Given the description of an element on the screen output the (x, y) to click on. 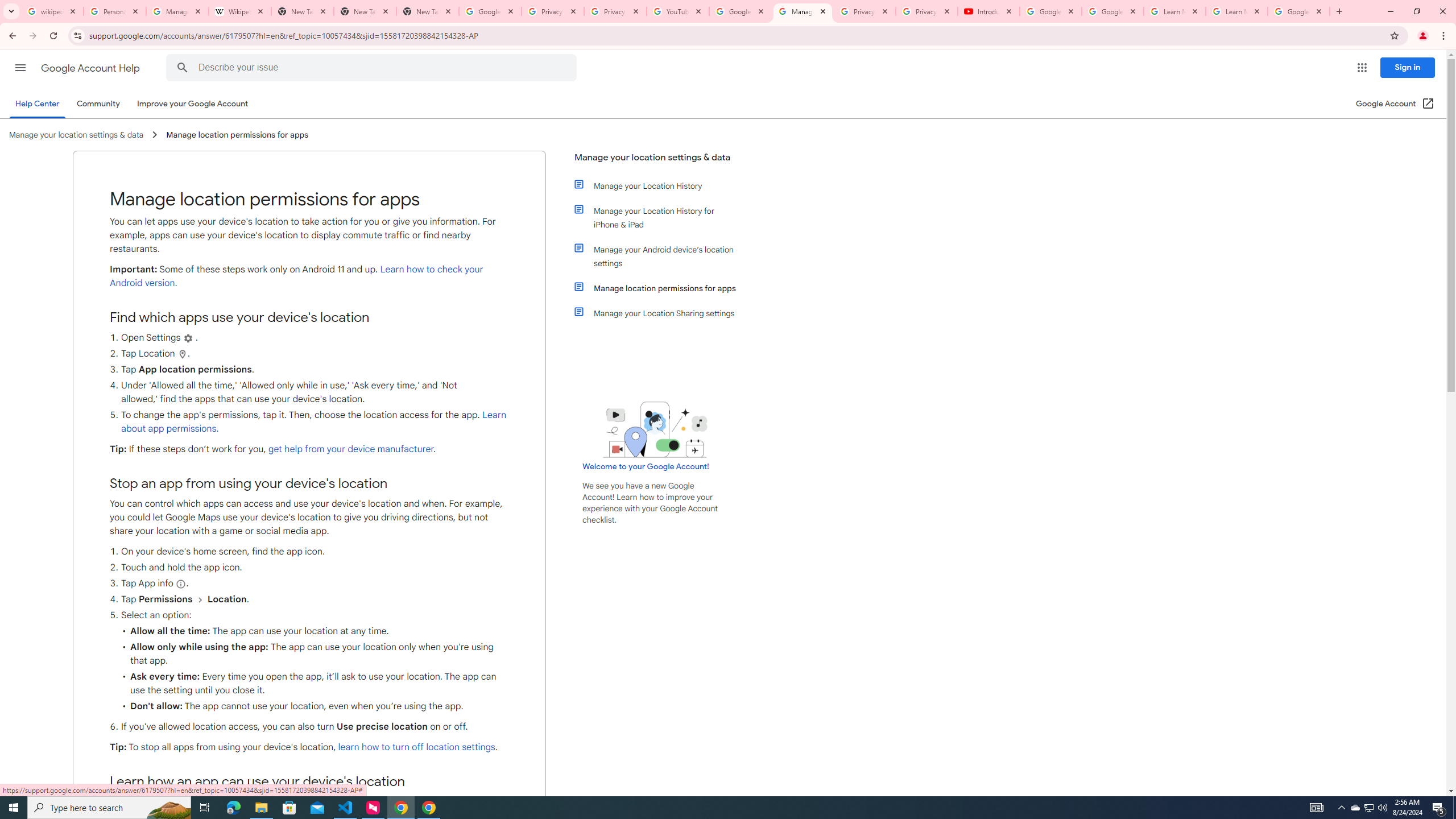
Google Account (Open in a new window) (1395, 103)
Google Drive: Sign-in (490, 11)
New Tab (365, 11)
Manage your Location History for iPhone & iPad (661, 217)
Improve your Google Account (192, 103)
Manage location permissions for apps (661, 288)
Search Help Center (181, 67)
Introduction | Google Privacy Policy - YouTube (988, 11)
